Given the description of an element on the screen output the (x, y) to click on. 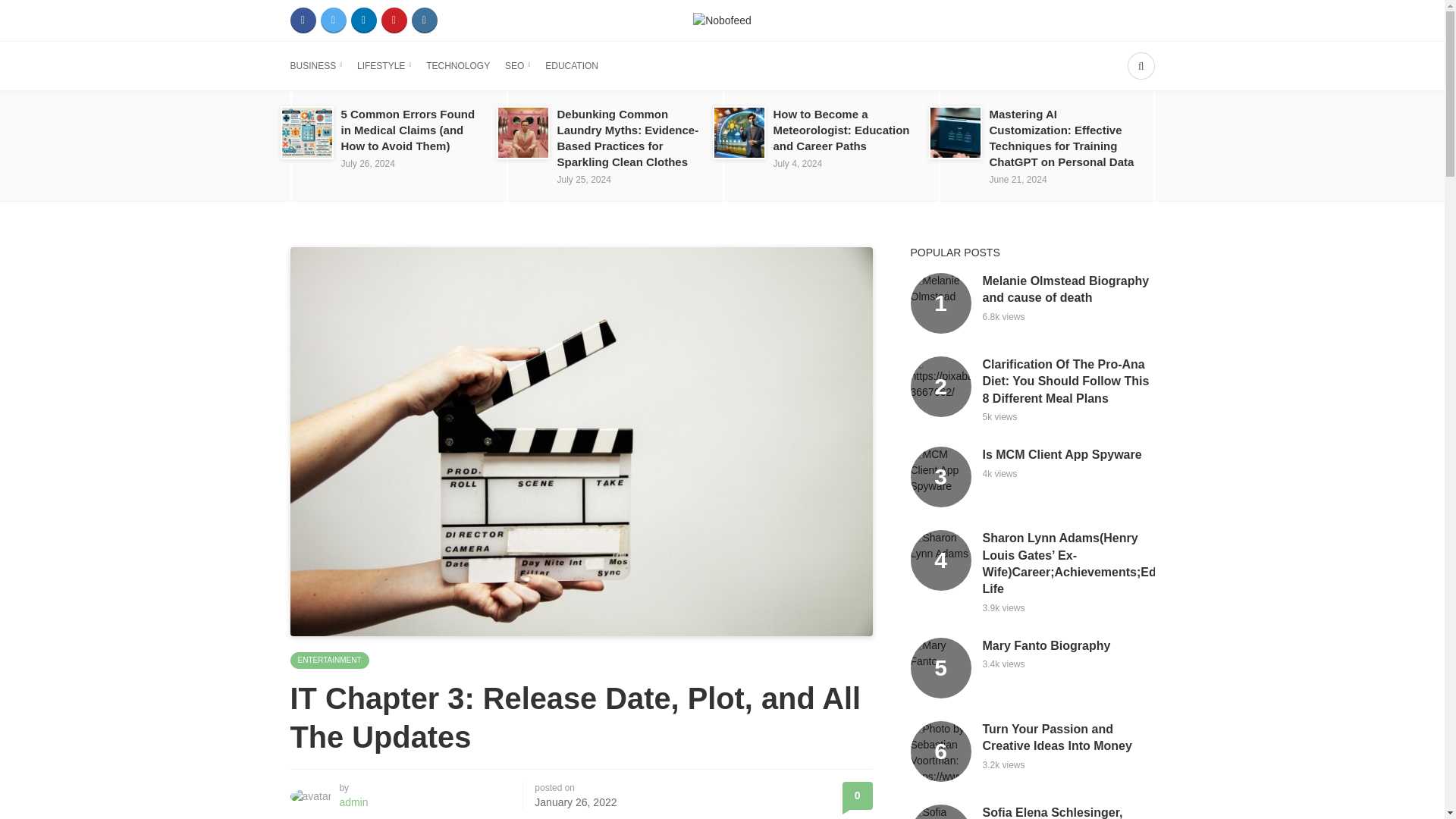
Posts by admin (353, 802)
Linkedin (362, 20)
June 21, 2024 (1017, 179)
Nobofeed (722, 20)
twitter (333, 20)
EDUCATION (571, 65)
July 4, 2024 (797, 163)
LIFESTYLE (383, 65)
July 25, 2024 (583, 179)
July 26, 2024 (367, 163)
